Given the description of an element on the screen output the (x, y) to click on. 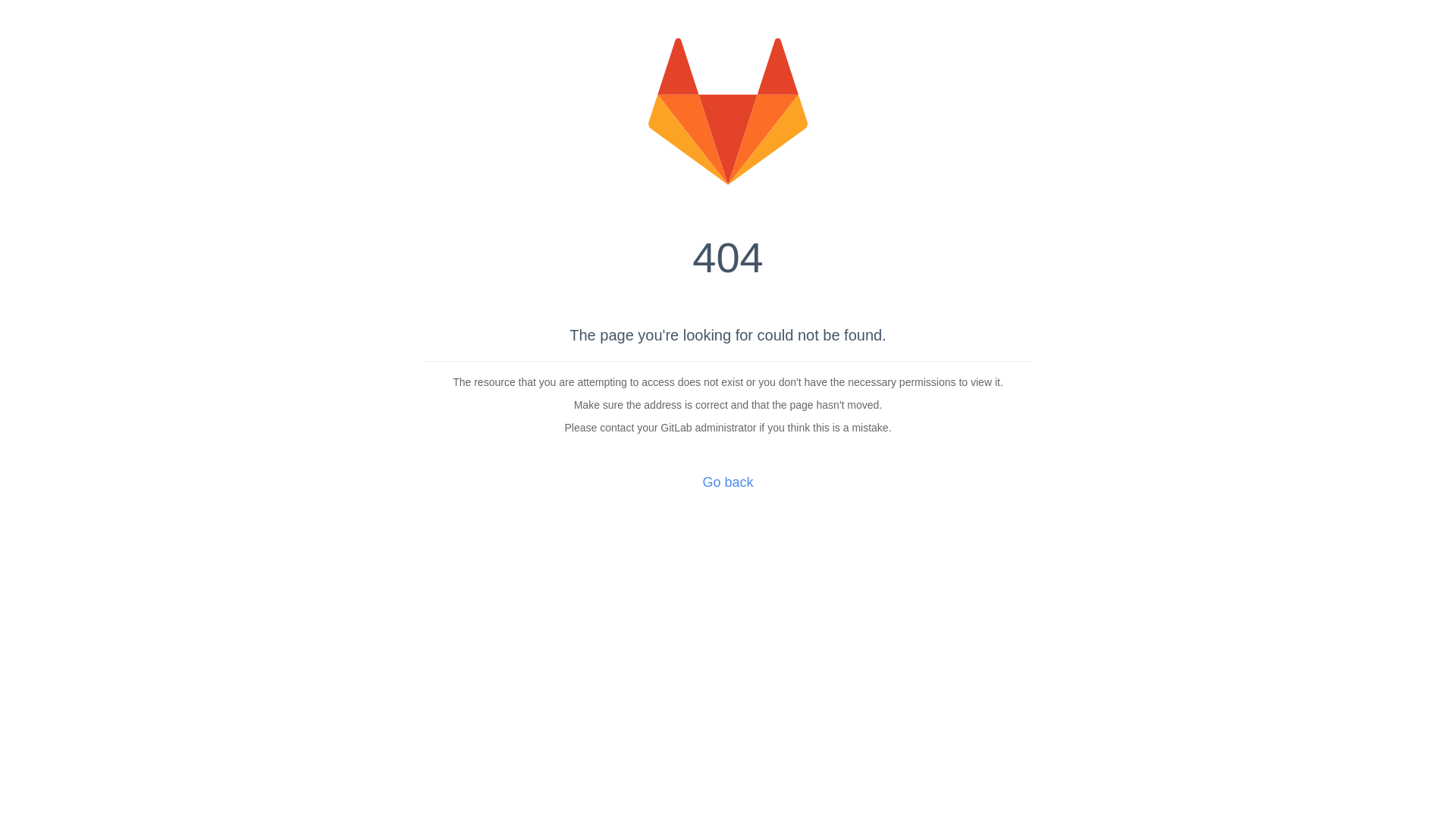
Go back Element type: text (727, 481)
